Given the description of an element on the screen output the (x, y) to click on. 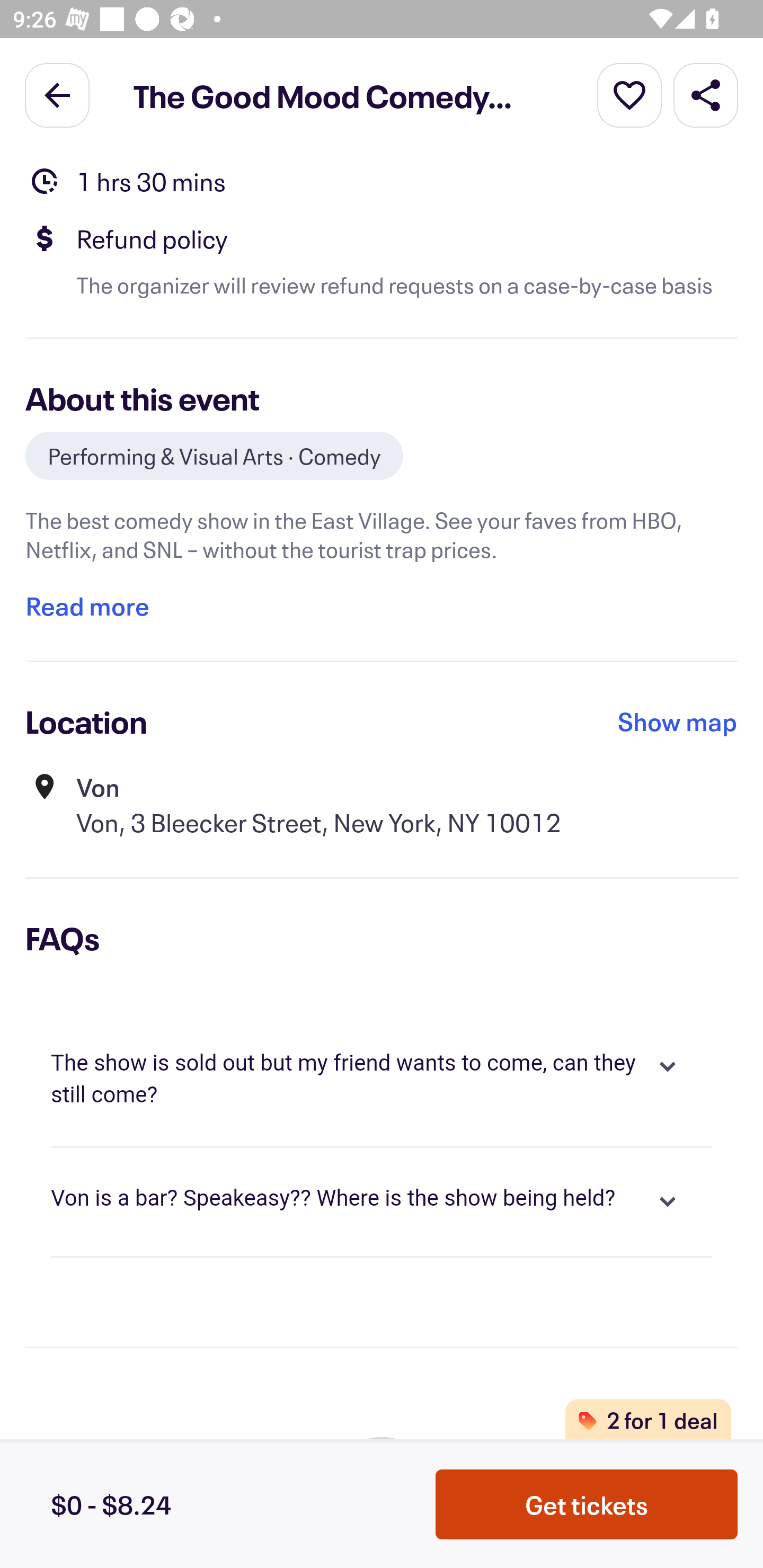
Back (57, 94)
More (629, 94)
Share (705, 94)
Location Von (381, 150)
Read more (87, 605)
Show map (677, 720)
Get tickets (586, 1504)
